Given the description of an element on the screen output the (x, y) to click on. 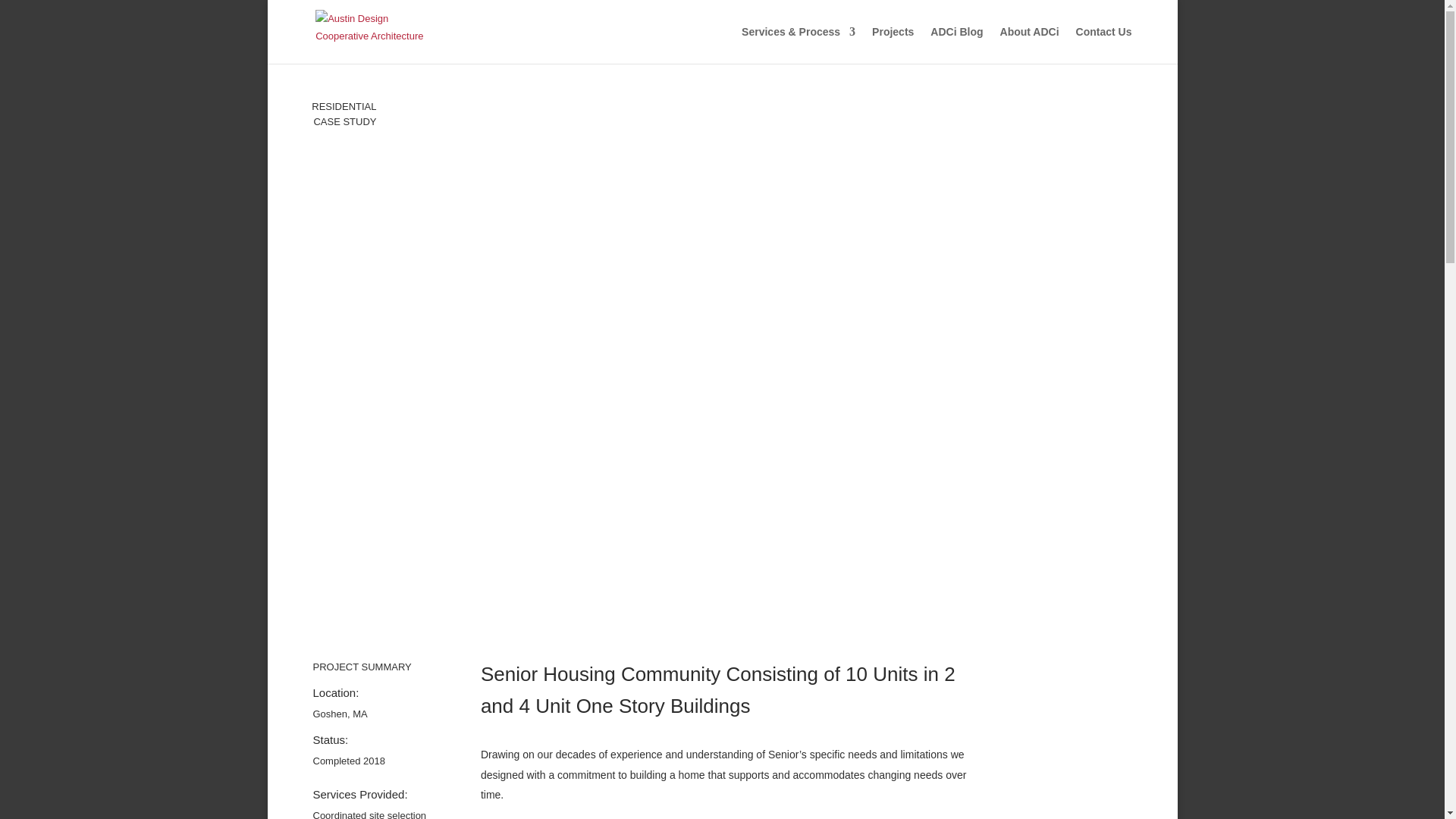
Projects (893, 44)
Contact Us (1103, 44)
ADCi Blog (956, 44)
About ADCi (1029, 44)
